Given the description of an element on the screen output the (x, y) to click on. 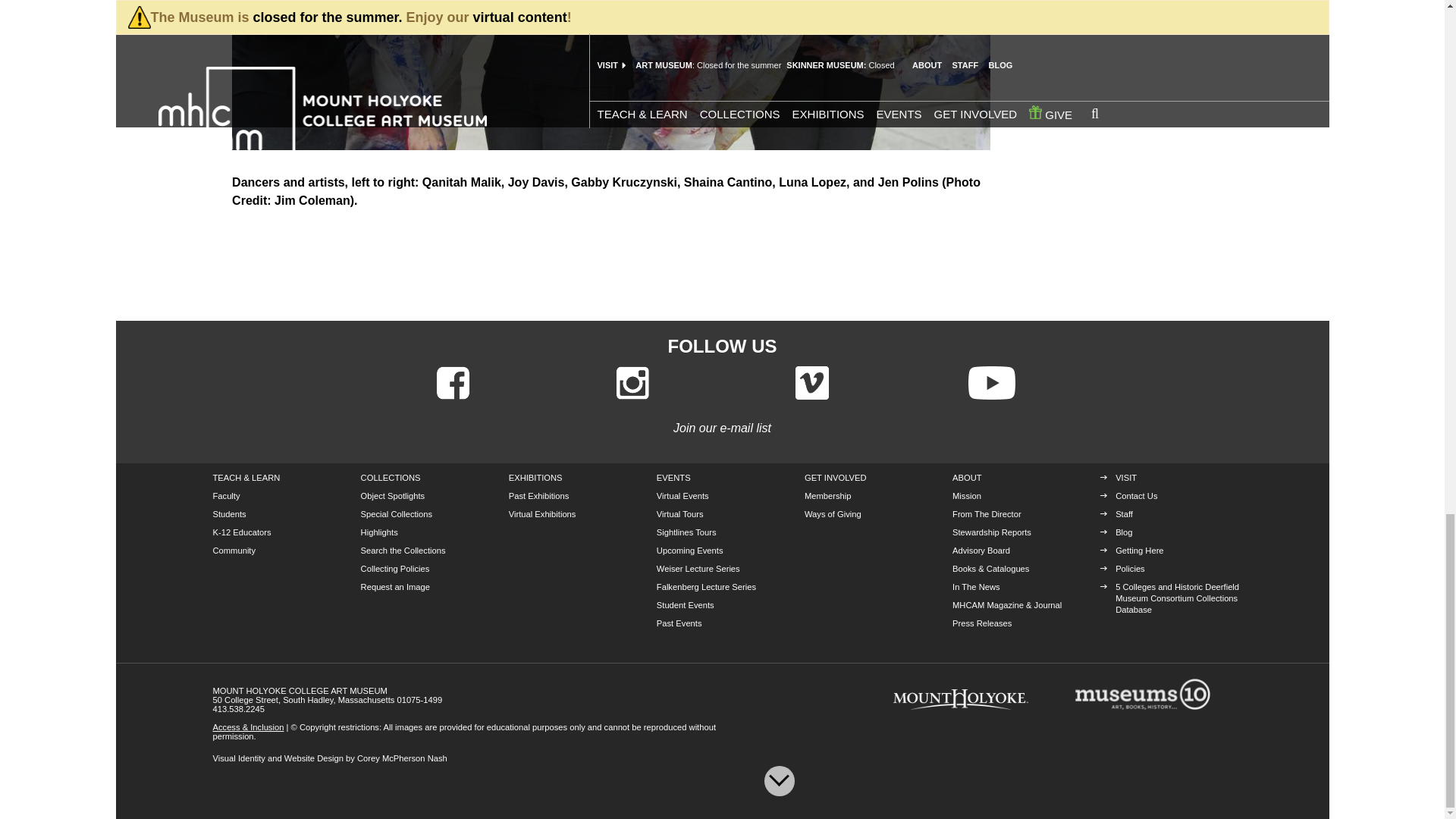
Faculty (226, 495)
